Given the description of an element on the screen output the (x, y) to click on. 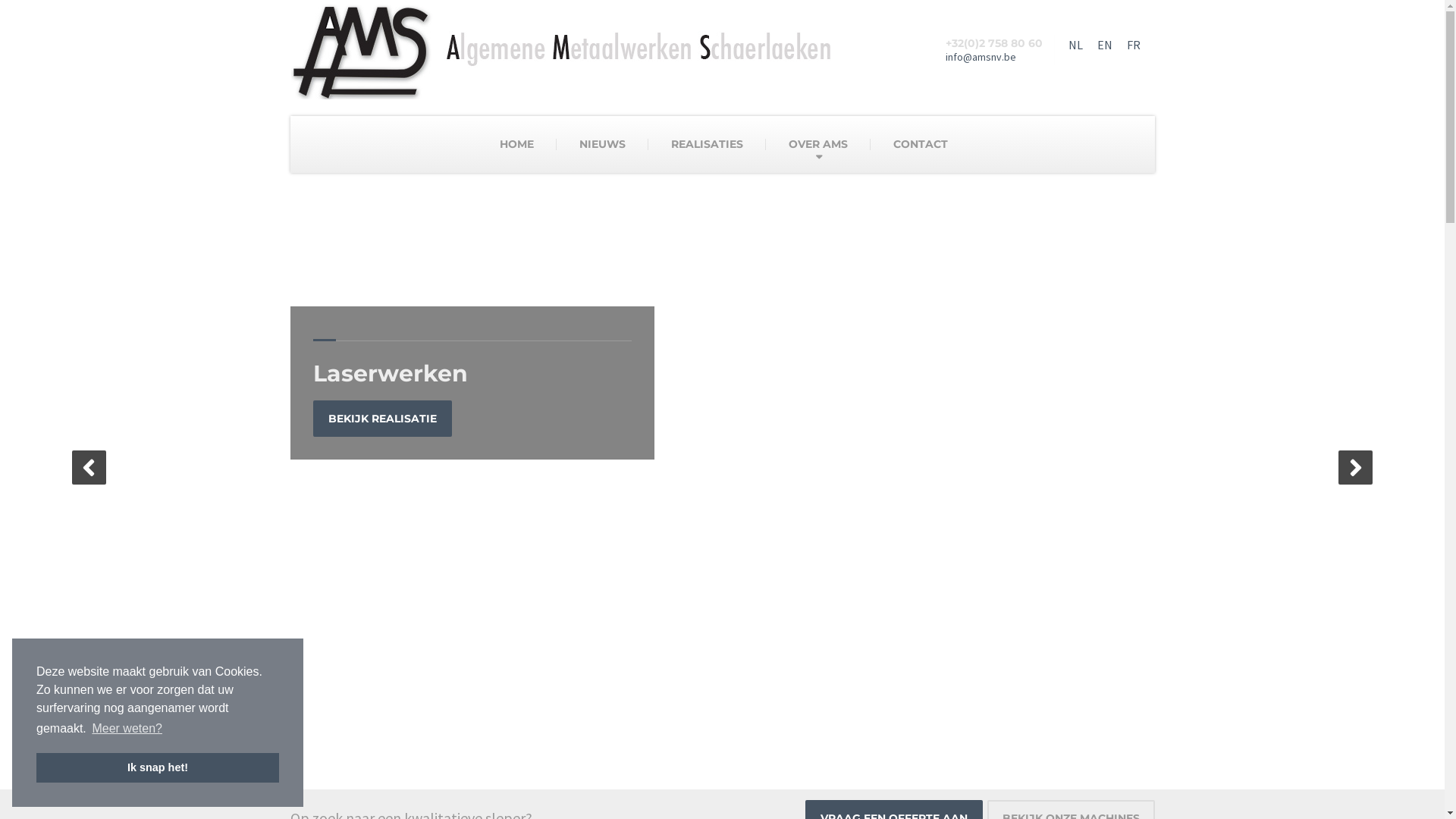
HOME Element type: text (516, 144)
FR Element type: text (1133, 44)
NL Element type: text (1074, 44)
REALISATIES Element type: text (706, 144)
NIEUWS Element type: text (602, 144)
info@amsnv.be Element type: text (979, 56)
Ik snap het! Element type: text (157, 767)
OVER AMS Element type: text (817, 144)
EN Element type: text (1103, 44)
BEKIJK REALISATIE Element type: text (381, 418)
CONTACT Element type: text (920, 144)
Meer weten? Element type: text (126, 728)
